Given the description of an element on the screen output the (x, y) to click on. 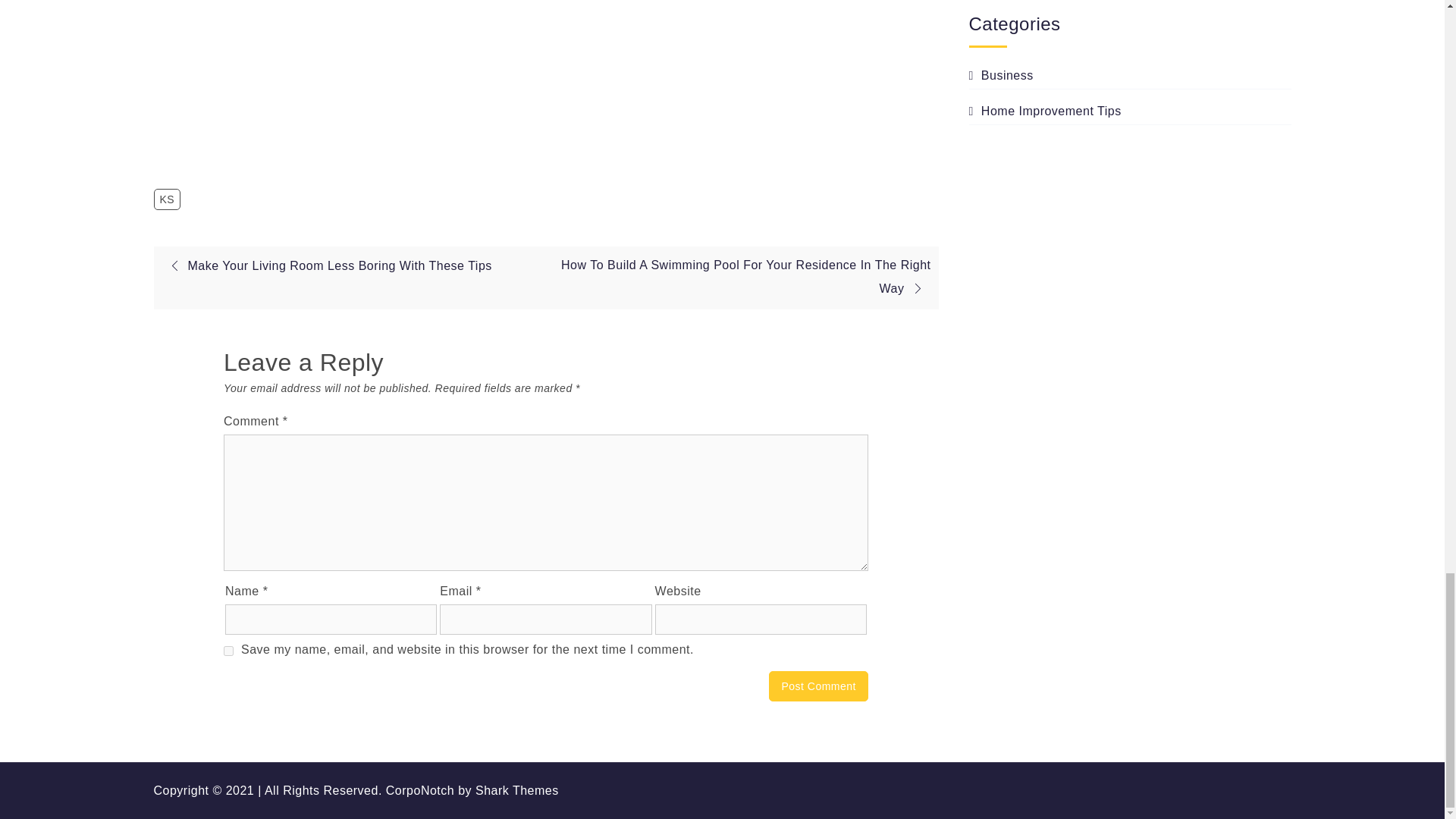
yes (228, 650)
KS (166, 199)
Post Comment (817, 685)
Post Comment (817, 685)
10 Secrets to Hiring a House Cleaning Service! (463, 76)
Make Your Living Room Less Boring With These Tips (326, 265)
